Given the description of an element on the screen output the (x, y) to click on. 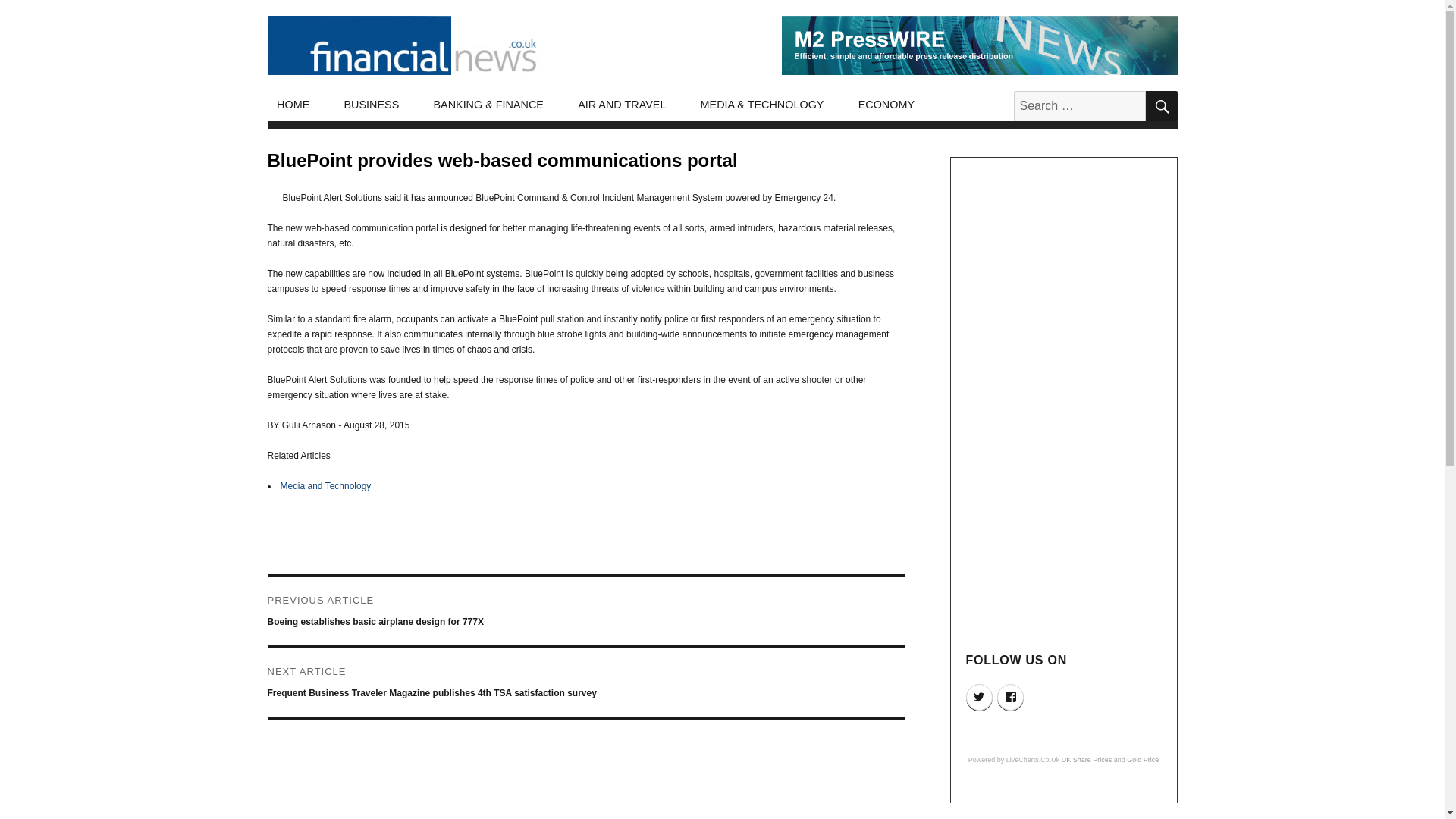
BUSINESS (371, 104)
UK Share Prices (1086, 759)
HOME (292, 104)
ECONOMY (886, 104)
Media and Technology (326, 485)
Gold Price (1142, 759)
AIR AND TRAVEL (622, 104)
TWITTER (979, 696)
SEARCH (1160, 105)
